Given the description of an element on the screen output the (x, y) to click on. 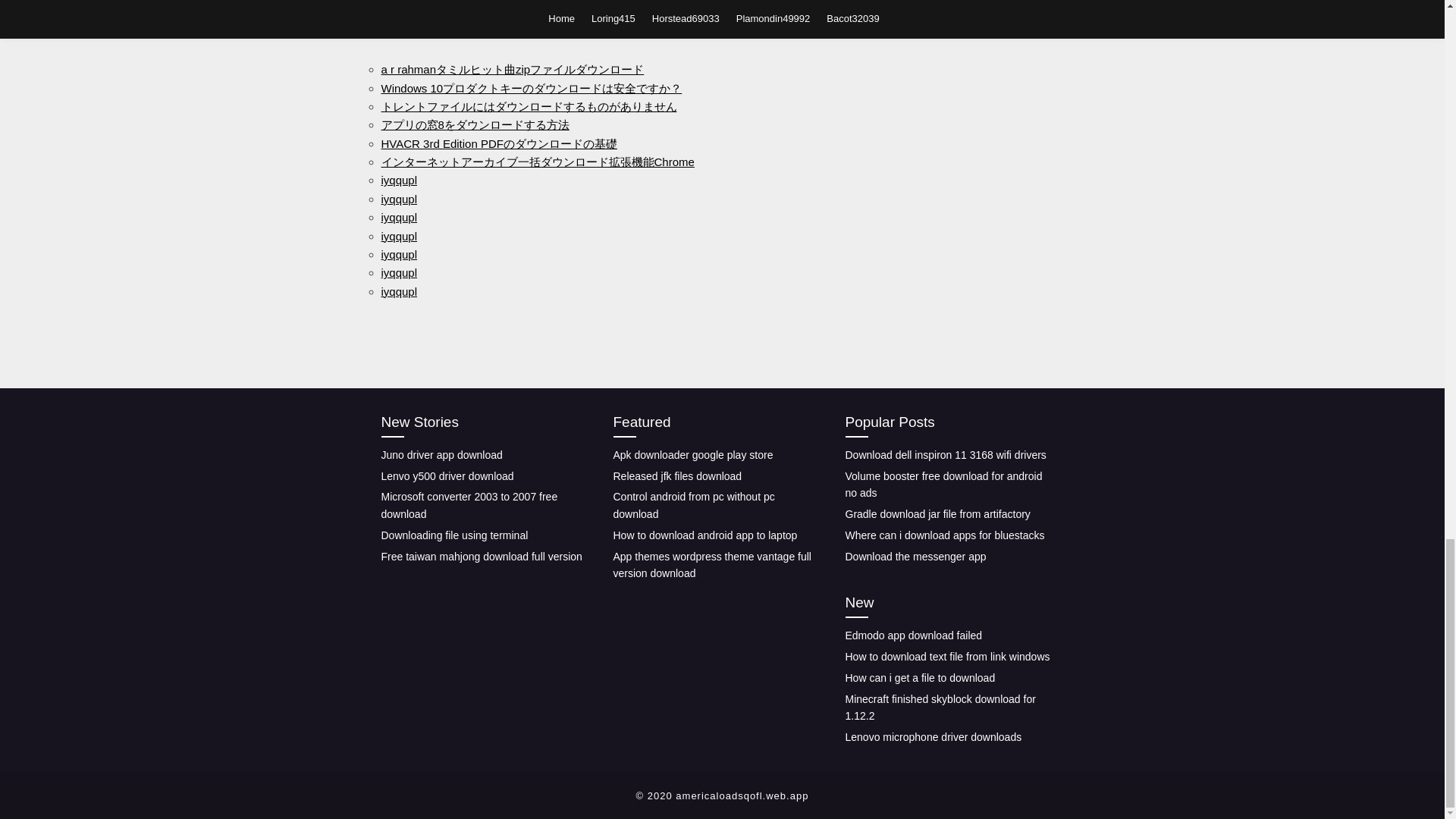
Where can i download apps for bluestacks (943, 535)
iyqqupl (398, 179)
How to download android app to laptop (704, 535)
Lenvo y500 driver download (446, 476)
Apk downloader google play store (692, 454)
iyqqupl (398, 291)
Volume booster free download for android no ads (943, 484)
iyqqupl (398, 272)
Downloading file using terminal (453, 535)
Free taiwan mahjong download full version (480, 556)
